Given the description of an element on the screen output the (x, y) to click on. 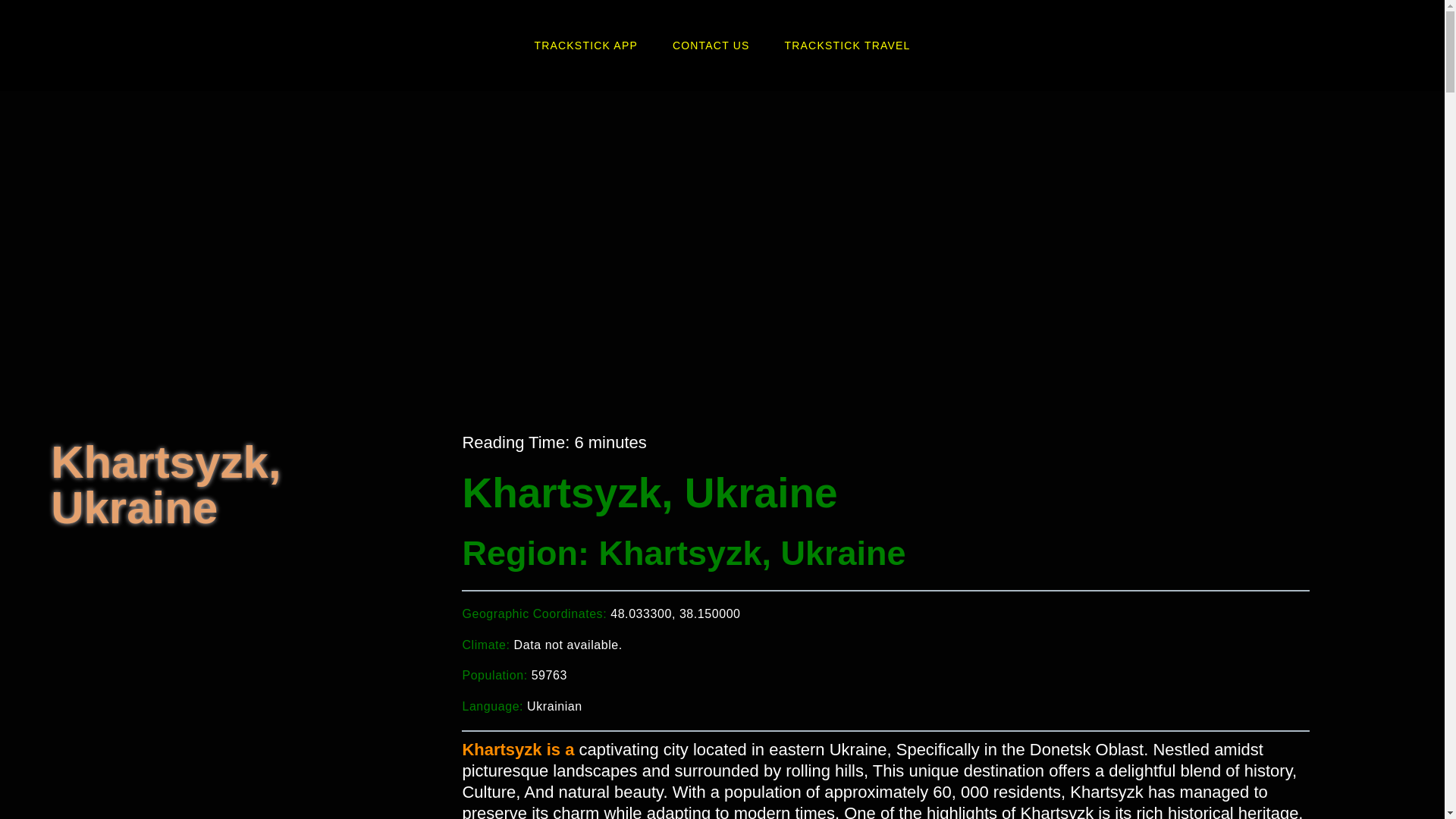
Khartsyzk, Ukraine (218, 659)
CONTACT US (711, 45)
TRACKSTICK TRAVEL (847, 45)
TRACKSTICK APP (584, 45)
